Given the description of an element on the screen output the (x, y) to click on. 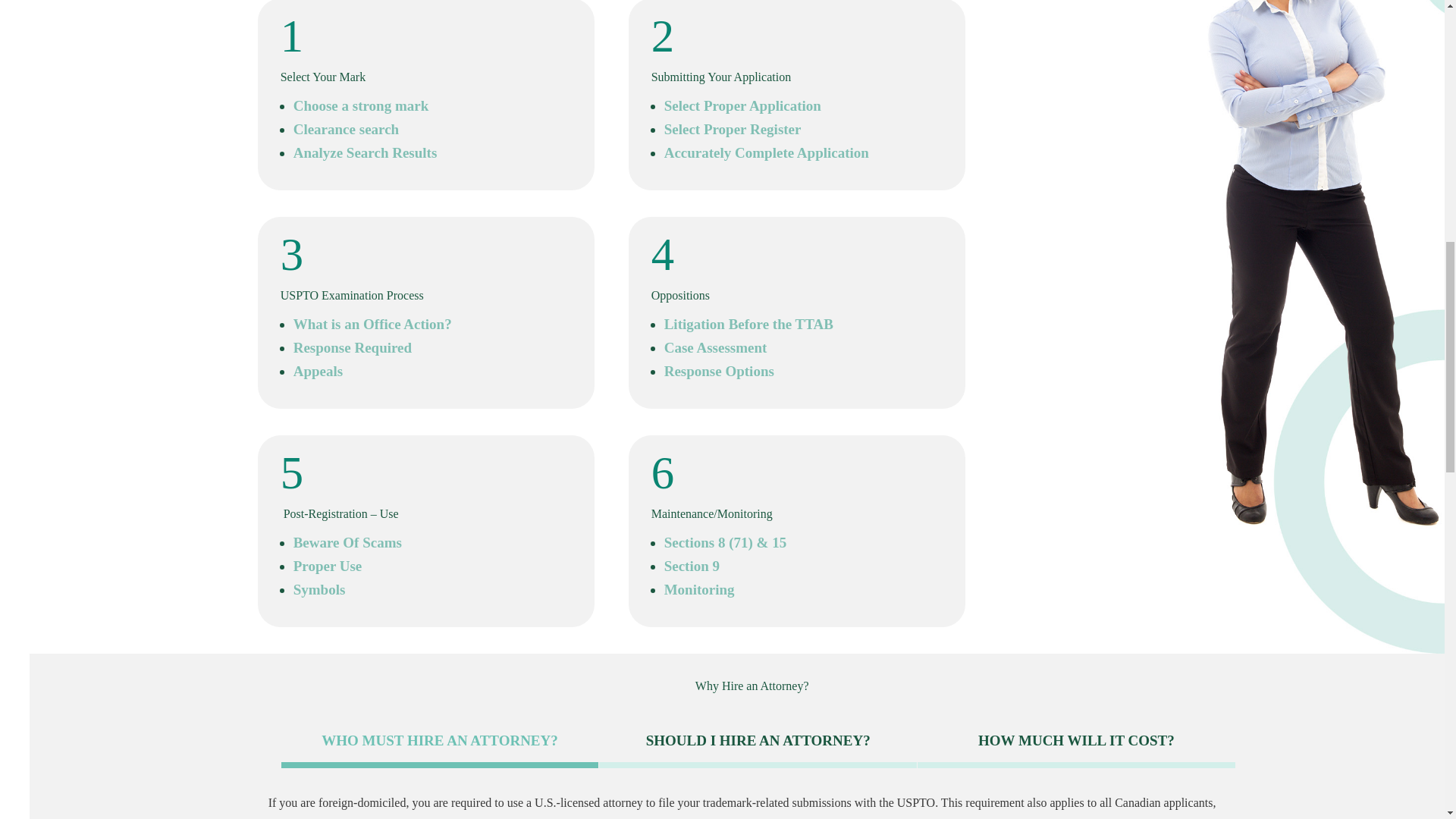
SHOULD I HIRE AN ATTORNEY? (757, 743)
Response Required (353, 347)
Section 9 (691, 565)
Choose a strong mark (361, 105)
Select Proper Application (742, 105)
Beware Of Scams (347, 542)
Select Proper Register (732, 129)
Symbols (320, 589)
WHO MUST HIRE AN ATTORNEY? (439, 743)
Case Assessment (715, 347)
Proper Use (328, 565)
HOW MUCH WILL IT COST? (1075, 743)
Clearance search (346, 129)
Analyze Search Results (366, 152)
Accurately Complete Application (766, 152)
